Given the description of an element on the screen output the (x, y) to click on. 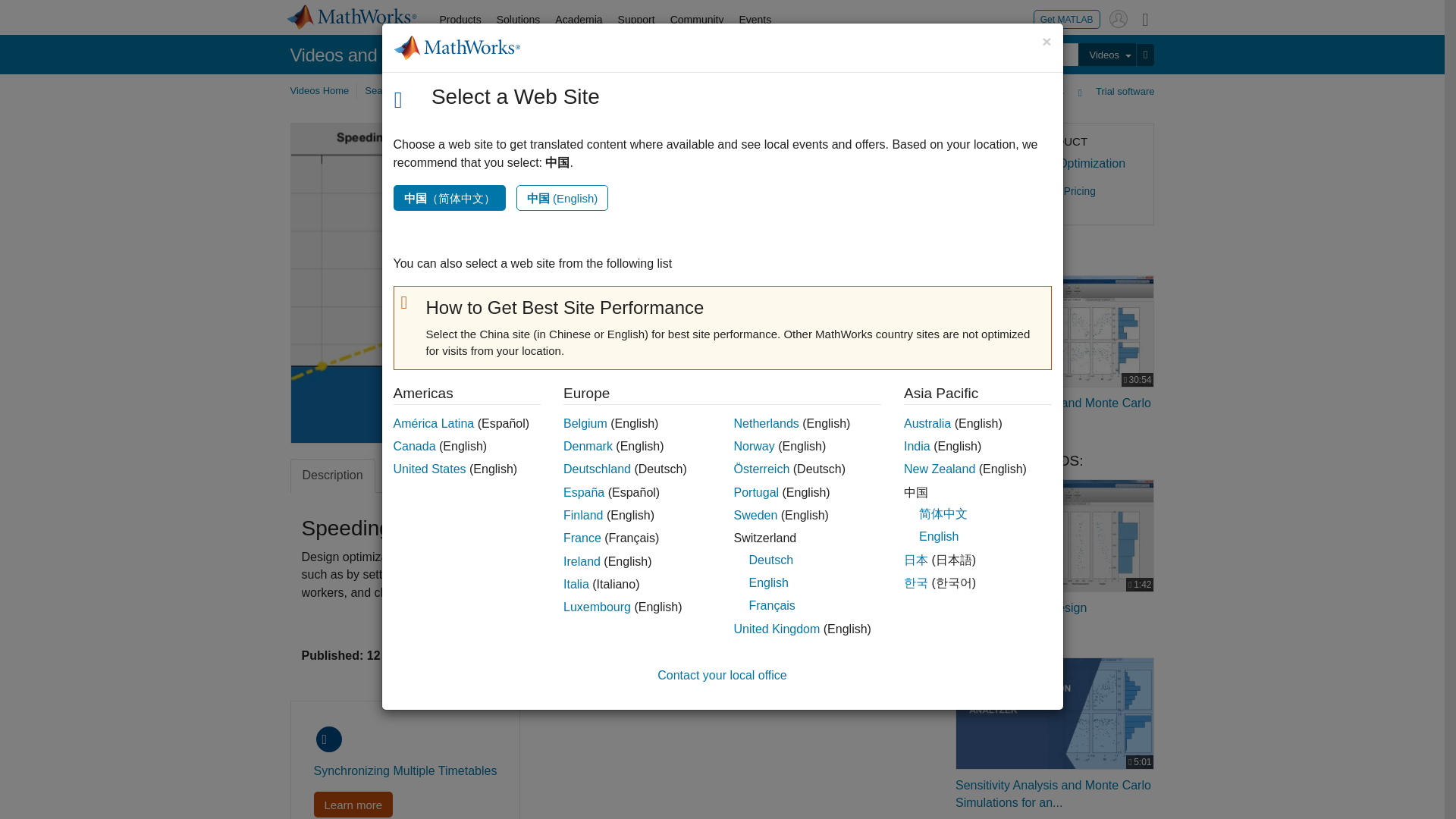
Sign In to Your MathWorks Account (1117, 18)
Play Video (574, 282)
Products (460, 19)
Solutions (518, 19)
Academia (578, 19)
Support (636, 19)
Events (754, 19)
Community (697, 19)
Get MATLAB (1066, 18)
